Given the description of an element on the screen output the (x, y) to click on. 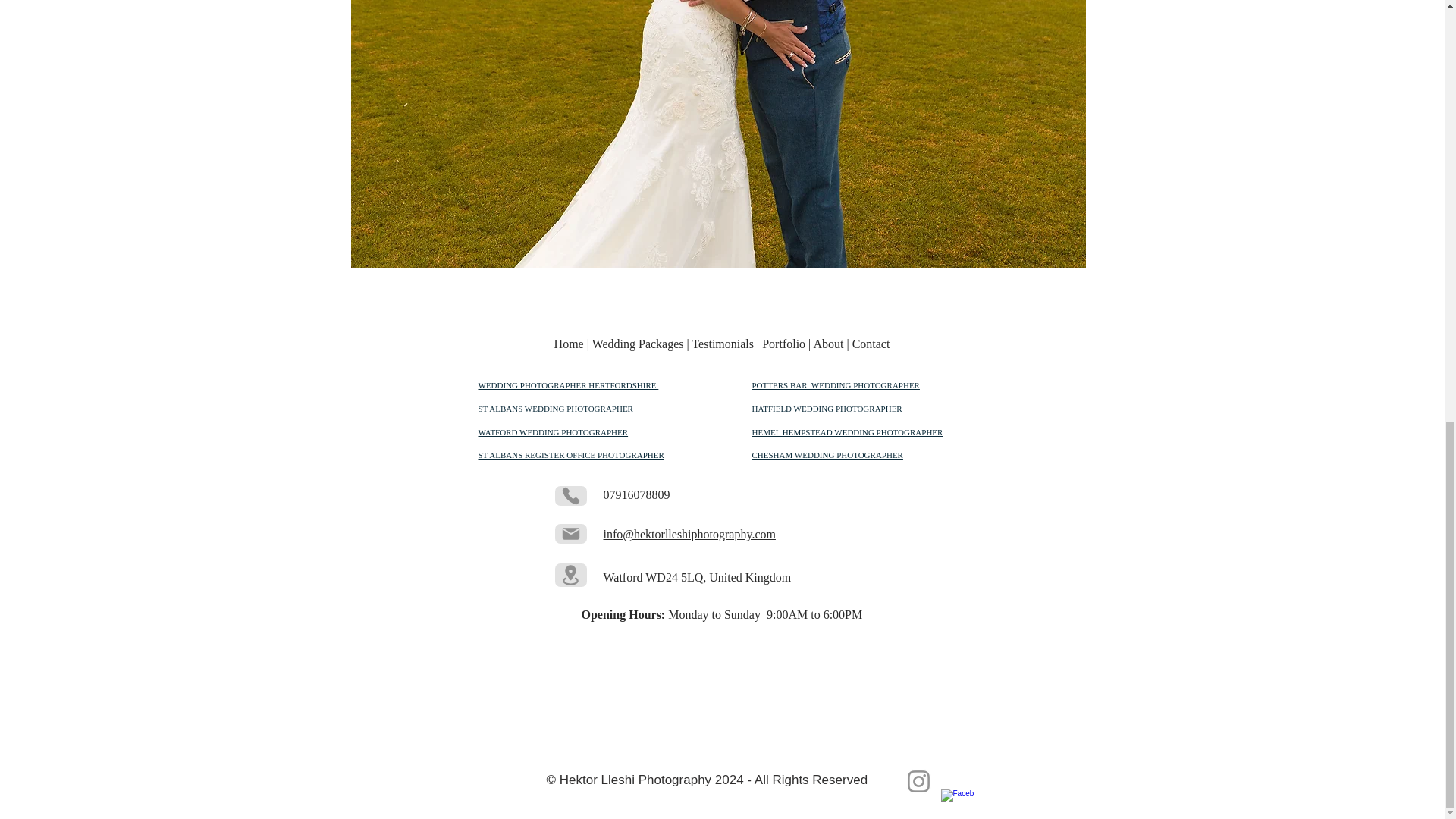
Portfolio  (784, 343)
Home (568, 343)
07916078809 (636, 494)
Testimonials (724, 343)
About (828, 343)
Contact (870, 343)
Wedding Packages (638, 343)
